Given the description of an element on the screen output the (x, y) to click on. 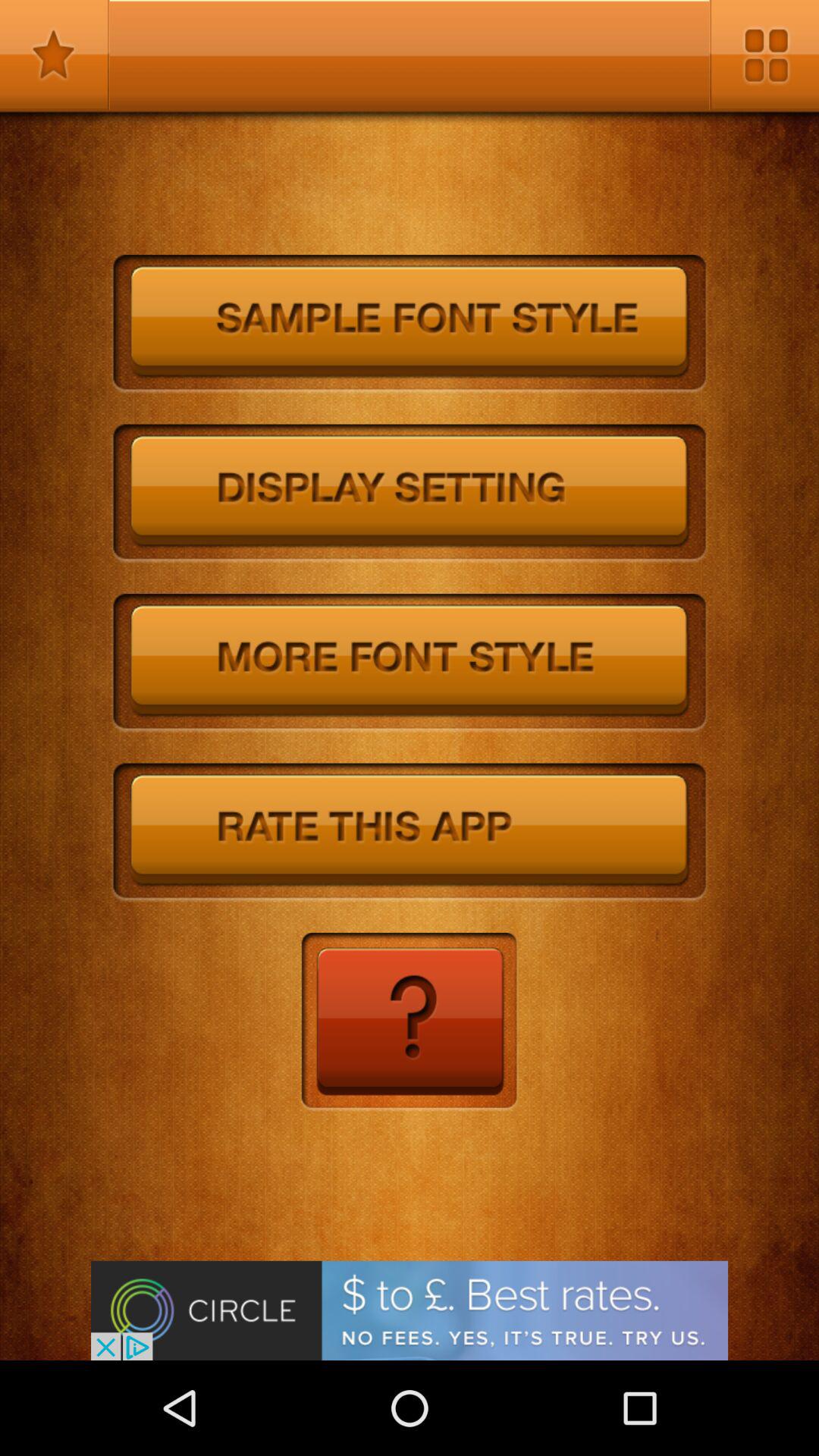
favorite the app (54, 54)
